Given the description of an element on the screen output the (x, y) to click on. 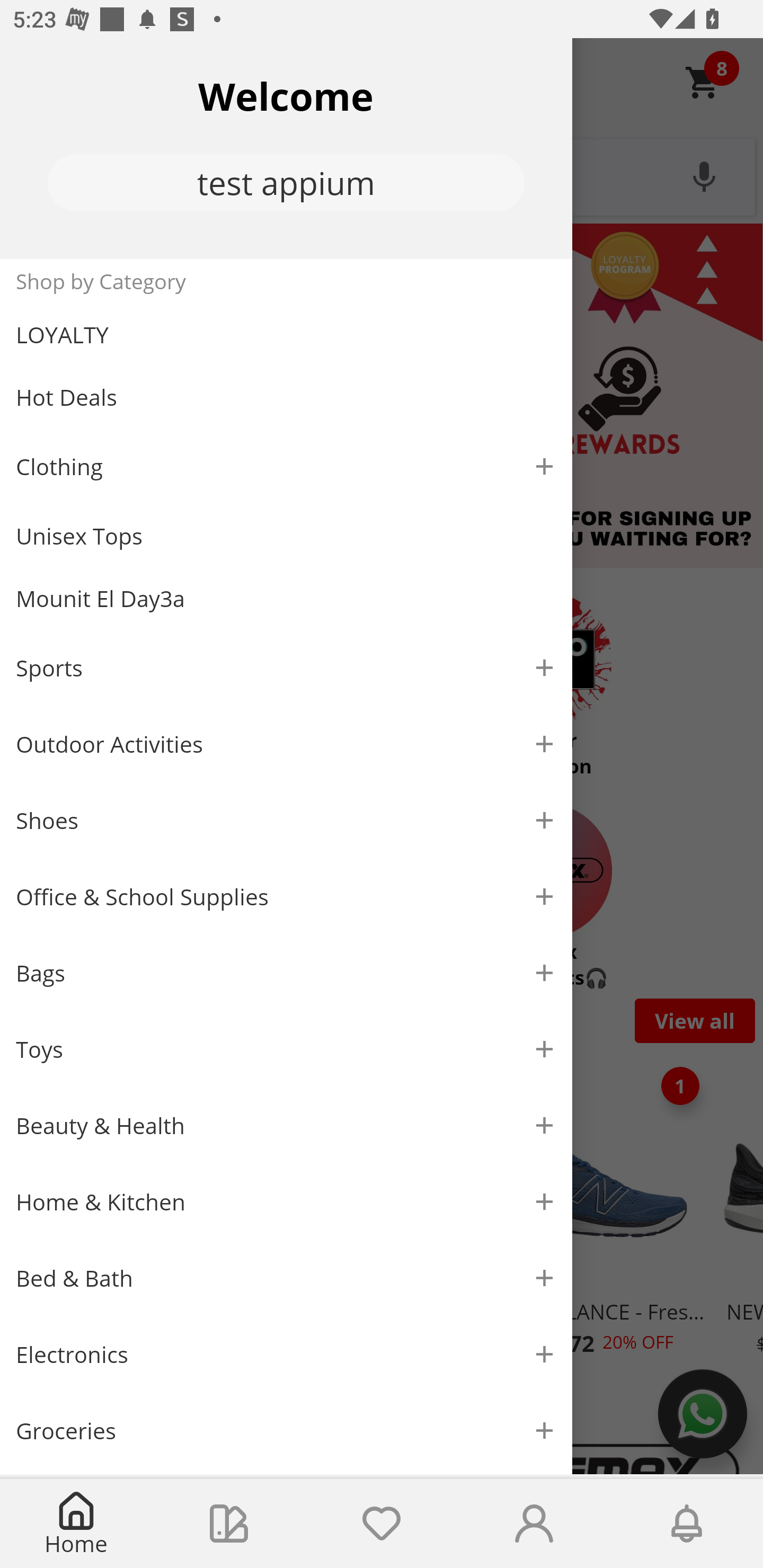
Welcome test appium (286, 147)
What are you looking for? (381, 175)
LOYALTY (286, 334)
Hot Deals (286, 396)
Clothing (286, 466)
Unisex Tops (286, 535)
Mounit El Day3a (286, 598)
Sports (286, 667)
Outdoor Activities (286, 743)
Shoes (286, 820)
Office & School Supplies (286, 896)
Bags (286, 972)
Toys (286, 1049)
Beauty & Health (286, 1125)
Home & Kitchen (286, 1201)
Bed & Bath (286, 1278)
Electronics (286, 1354)
Groceries (286, 1430)
Collections (228, 1523)
Wishlist (381, 1523)
Account (533, 1523)
Notifications (686, 1523)
